Given the description of an element on the screen output the (x, y) to click on. 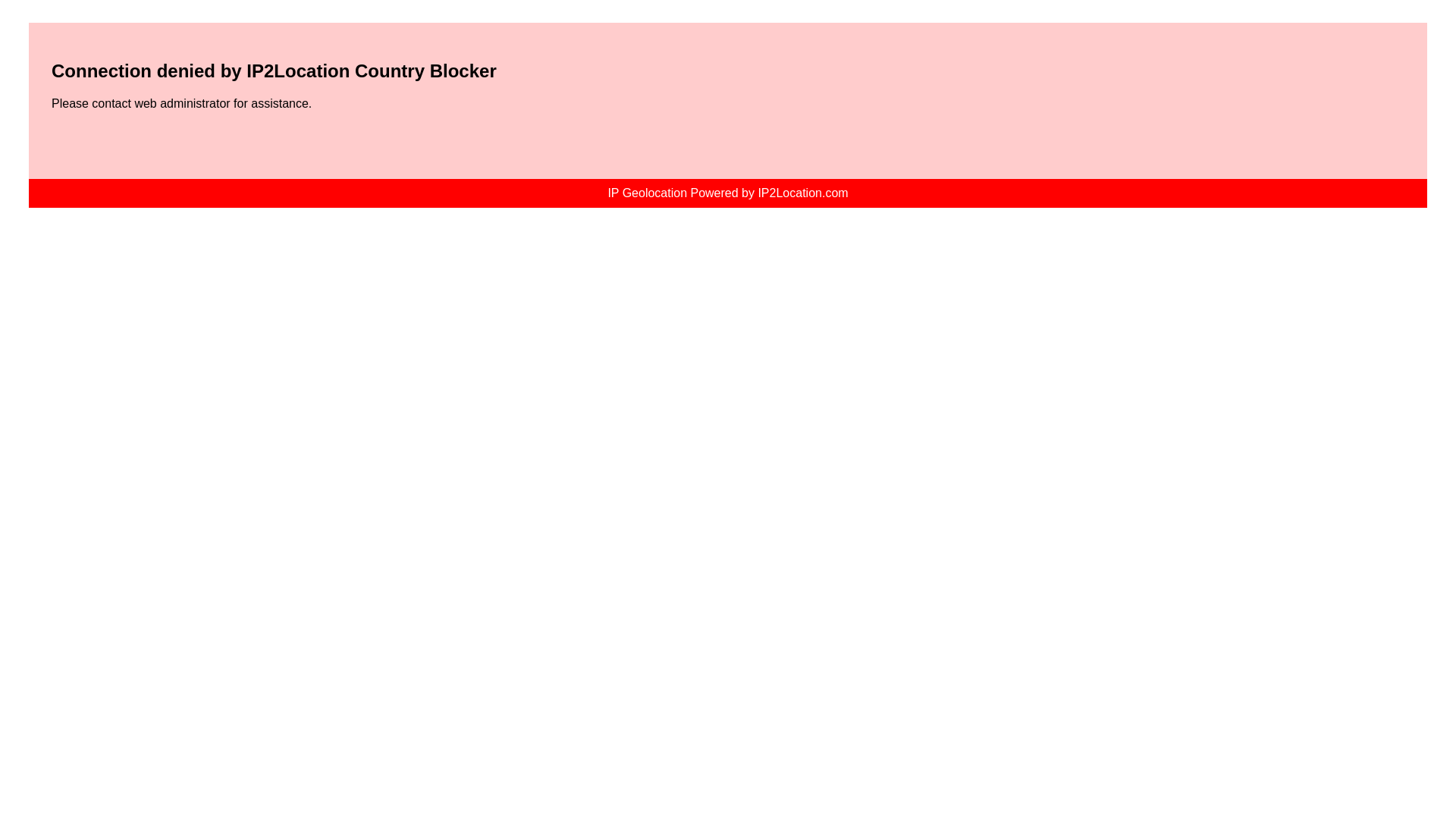
IP Geolocation Powered by IP2Location.com Element type: text (727, 192)
